Given the description of an element on the screen output the (x, y) to click on. 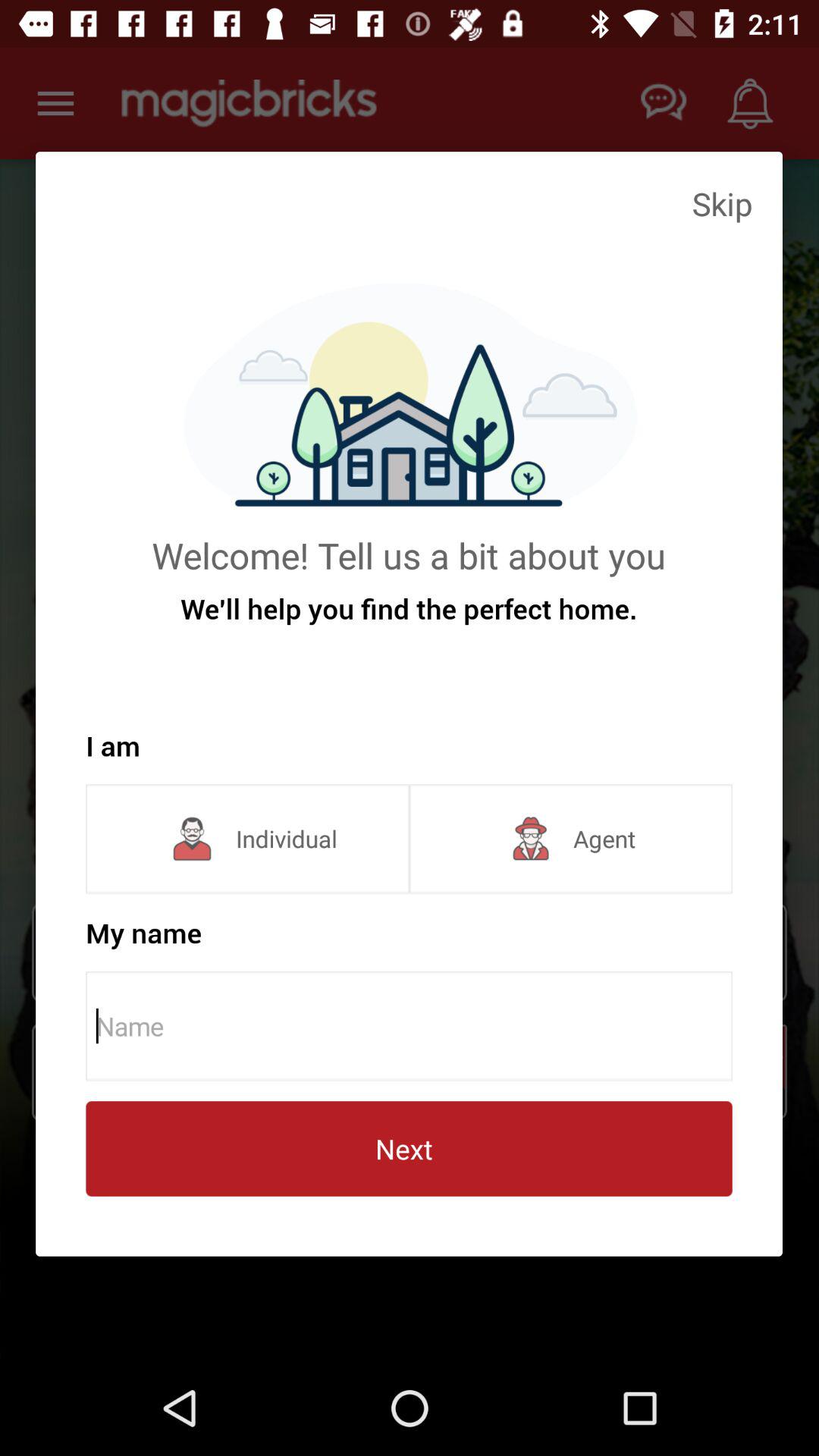
launch skip item (722, 203)
